Given the description of an element on the screen output the (x, y) to click on. 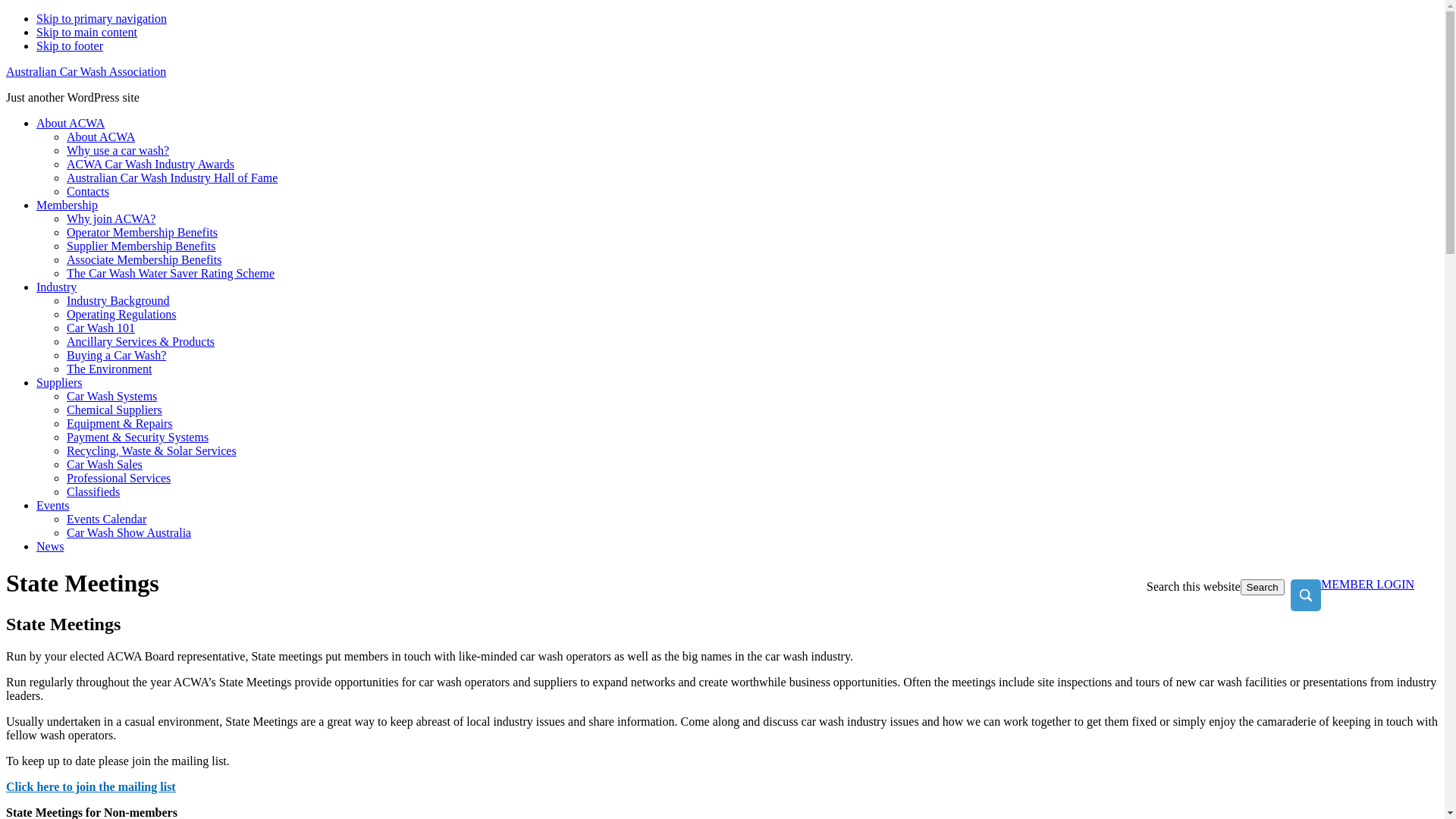
Industry Element type: text (56, 286)
Car Wash Show Australia Element type: text (128, 532)
Professional Services Element type: text (118, 477)
Operator Membership Benefits Element type: text (141, 231)
About ACWA Element type: text (70, 122)
About ACWA Element type: text (100, 136)
Why use a car wash? Element type: text (117, 150)
Why join ACWA? Element type: text (110, 218)
Industry Background Element type: text (117, 300)
MEMBER LOGIN Element type: text (1367, 583)
Equipment & Repairs Element type: text (119, 423)
Ancillary Services & Products Element type: text (140, 341)
Car Wash Sales Element type: text (104, 464)
Chemical Suppliers Element type: text (114, 409)
Australian Car Wash Association Element type: text (86, 71)
Events Element type: text (52, 504)
Car Wash Systems Element type: text (111, 395)
Search Element type: text (1262, 587)
Contacts Element type: text (87, 191)
Supplier Membership Benefits Element type: text (140, 245)
Skip to footer Element type: text (69, 45)
Associate Membership Benefits Element type: text (143, 259)
Car Wash 101 Element type: text (100, 327)
Events Calendar Element type: text (106, 518)
Classifieds Element type: text (92, 491)
Suppliers Element type: text (58, 382)
Click here to join the mailing list Element type: text (90, 786)
The Car Wash Water Saver Rating Scheme Element type: text (170, 272)
The Environment Element type: text (108, 368)
ACWA Car Wash Industry Awards Element type: text (150, 163)
Buying a Car Wash? Element type: text (116, 354)
Operating Regulations Element type: text (120, 313)
Recycling, Waste & Solar Services Element type: text (151, 450)
Skip to primary navigation Element type: text (101, 18)
Payment & Security Systems Element type: text (137, 436)
Membership Element type: text (66, 204)
Skip to main content Element type: text (86, 31)
Australian Car Wash Industry Hall of Fame Element type: text (171, 177)
News Element type: text (49, 545)
